Given the description of an element on the screen output the (x, y) to click on. 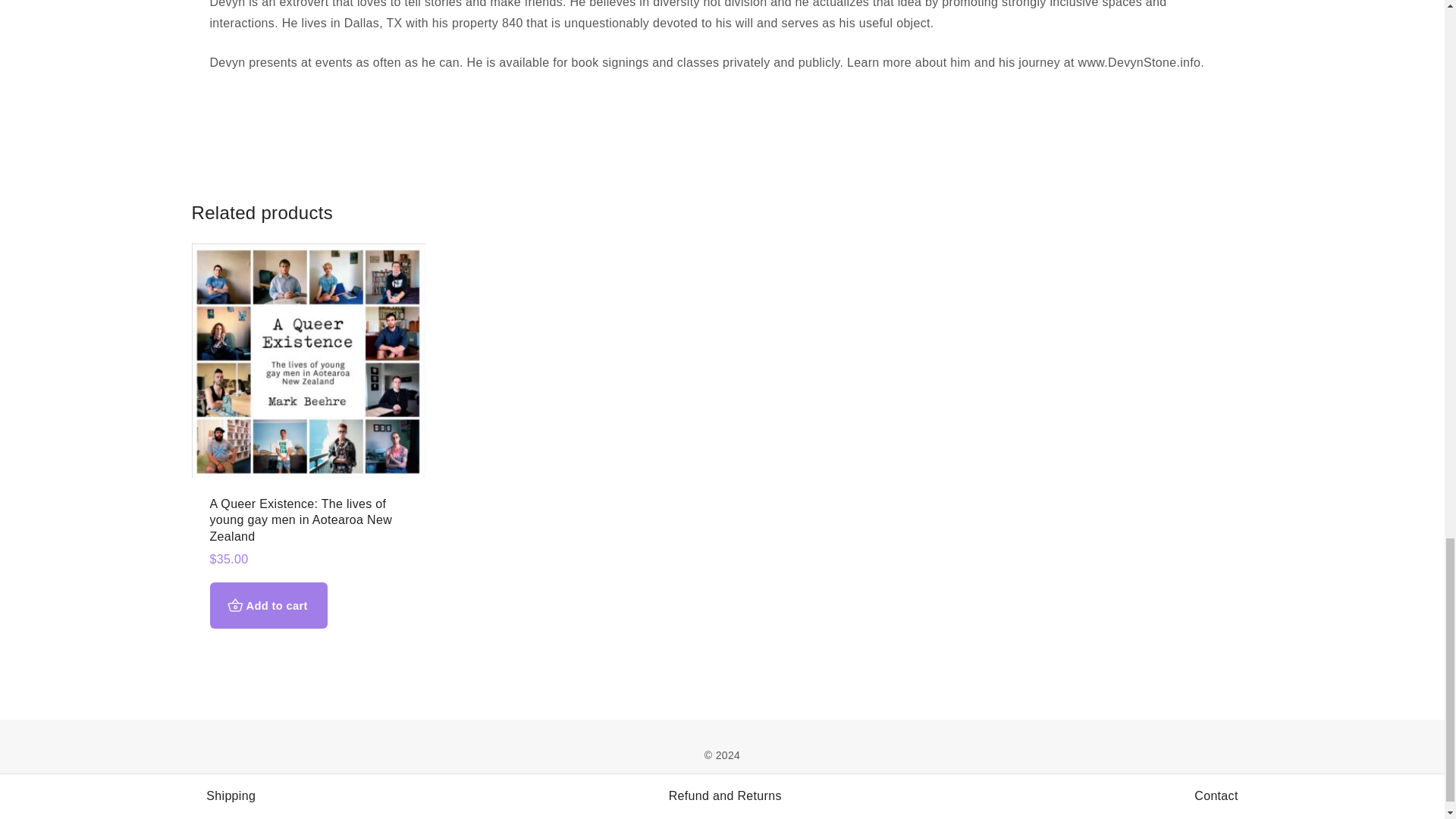
Add to cart (267, 605)
